Given the description of an element on the screen output the (x, y) to click on. 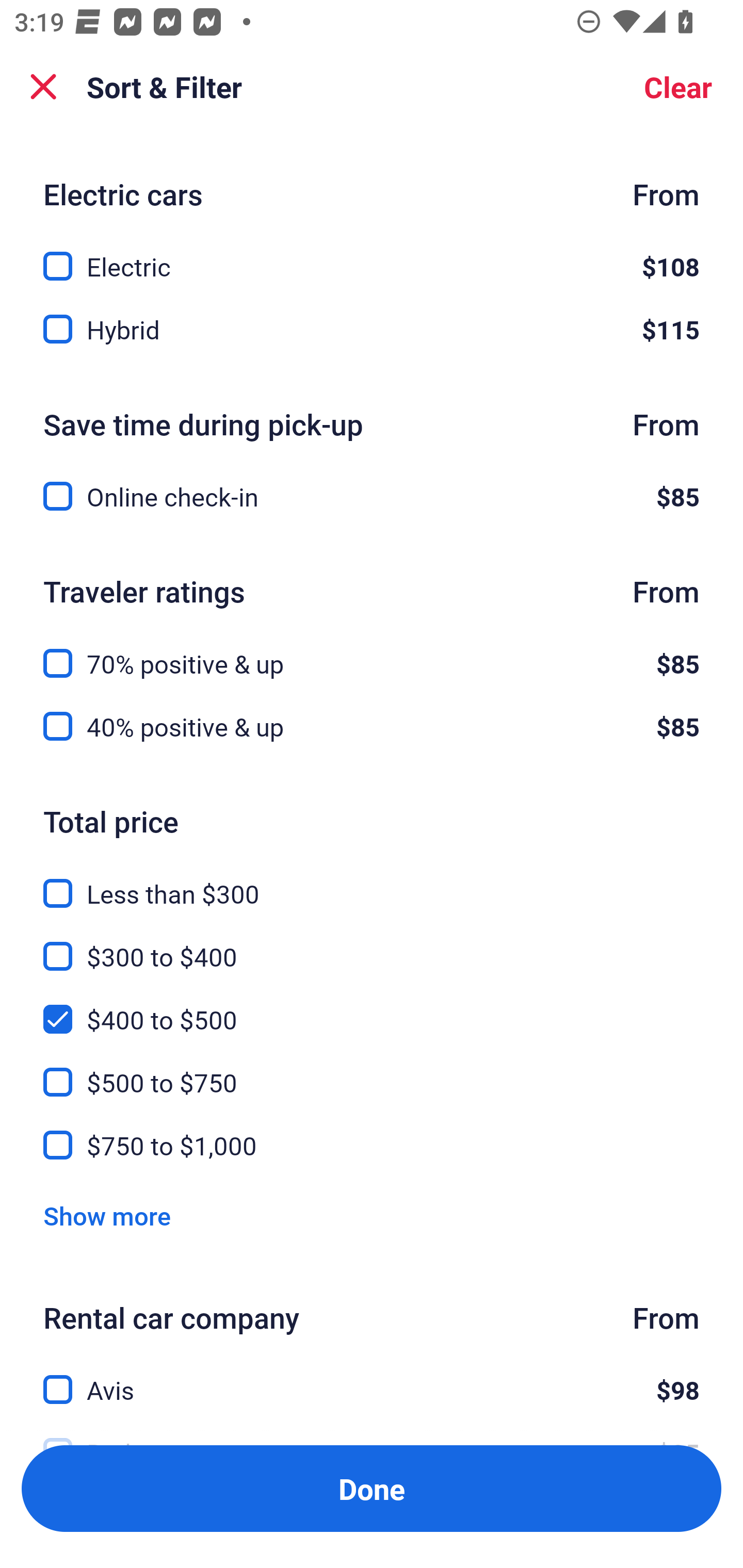
Close Sort and Filter (43, 86)
Clear (677, 86)
Electric, $108 Electric $108 (371, 254)
Hybrid, $115 Hybrid $115 (371, 329)
Online check-in, $85 Online check-in $85 (371, 496)
70% positive & up, $85 70% positive & up $85 (371, 651)
40% positive & up, $85 40% positive & up $85 (371, 726)
Less than $300, Less than $300 (371, 881)
$300 to $400, $300 to $400 (371, 945)
$400 to $500, $400 to $500 (371, 1007)
$500 to $750, $500 to $750 (371, 1070)
$750 to $1,000, $750 to $1,000 (371, 1145)
Show more Show more Link (106, 1215)
Avis, $98 Avis $98 (371, 1377)
Apply and close Sort and Filter Done (371, 1488)
